Given the description of an element on the screen output the (x, y) to click on. 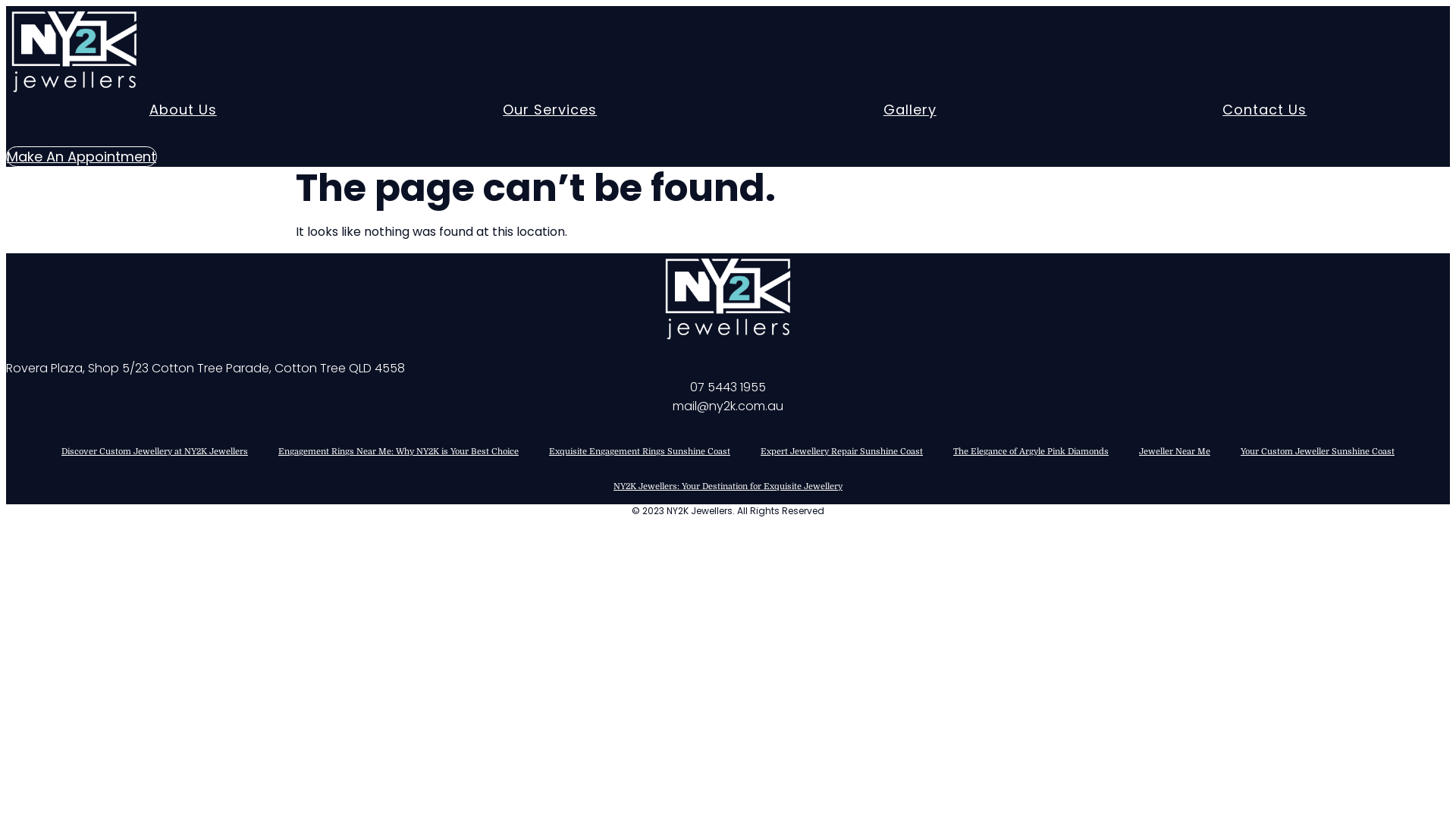
NY2K Jewellers: Your Destination for Exquisite Jewellery Element type: text (727, 486)
Gallery Element type: text (909, 109)
About Us Element type: text (183, 109)
Engagement Rings Near Me: Why NY2K is Your Best Choice Element type: text (398, 451)
Make An Appointment Element type: text (81, 156)
Jeweller Near Me Element type: text (1174, 451)
07 5443 1955 Element type: text (727, 386)
The Elegance of Argyle Pink Diamonds Element type: text (1030, 451)
Discover Custom Jewellery at NY2K Jewellers Element type: text (154, 451)
Skip to content Element type: text (5, 5)
mail@ny2k.com.au Element type: text (727, 405)
Exquisite Engagement Rings Sunshine Coast Element type: text (639, 451)
Your Custom Jeweller Sunshine Coast Element type: text (1317, 451)
Our Services Element type: text (549, 109)
Expert Jewellery Repair Sunshine Coast Element type: text (841, 451)
Contact Us Element type: text (1264, 109)
